Given the description of an element on the screen output the (x, y) to click on. 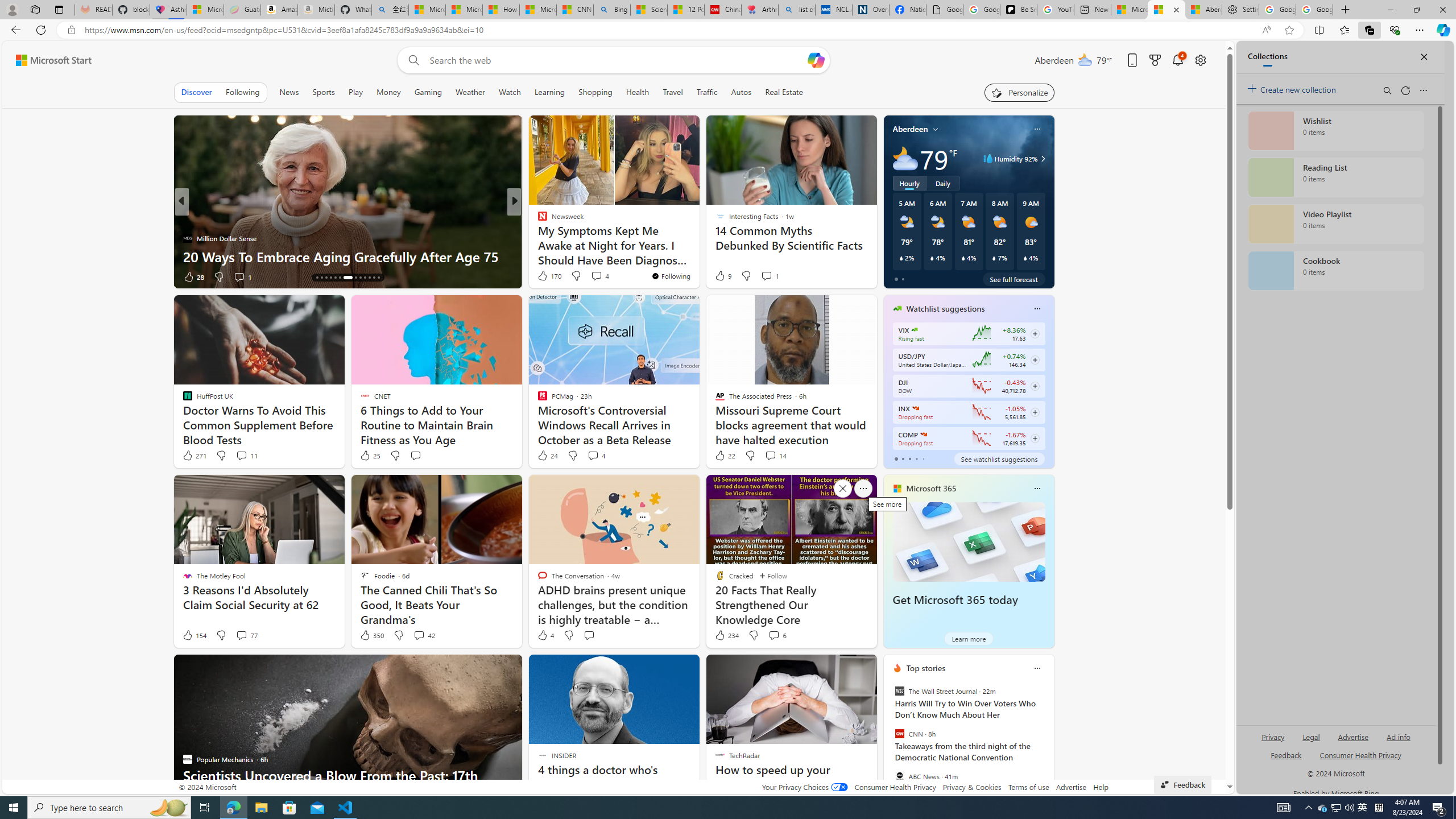
S&P 500 (914, 407)
View comments 11 Comment (241, 455)
4 Like (545, 634)
Daily (942, 183)
CNN - MSN (574, 9)
AutomationID: genId96 (1285, 759)
How to clear your browser cache and cookies (697, 256)
